Given the description of an element on the screen output the (x, y) to click on. 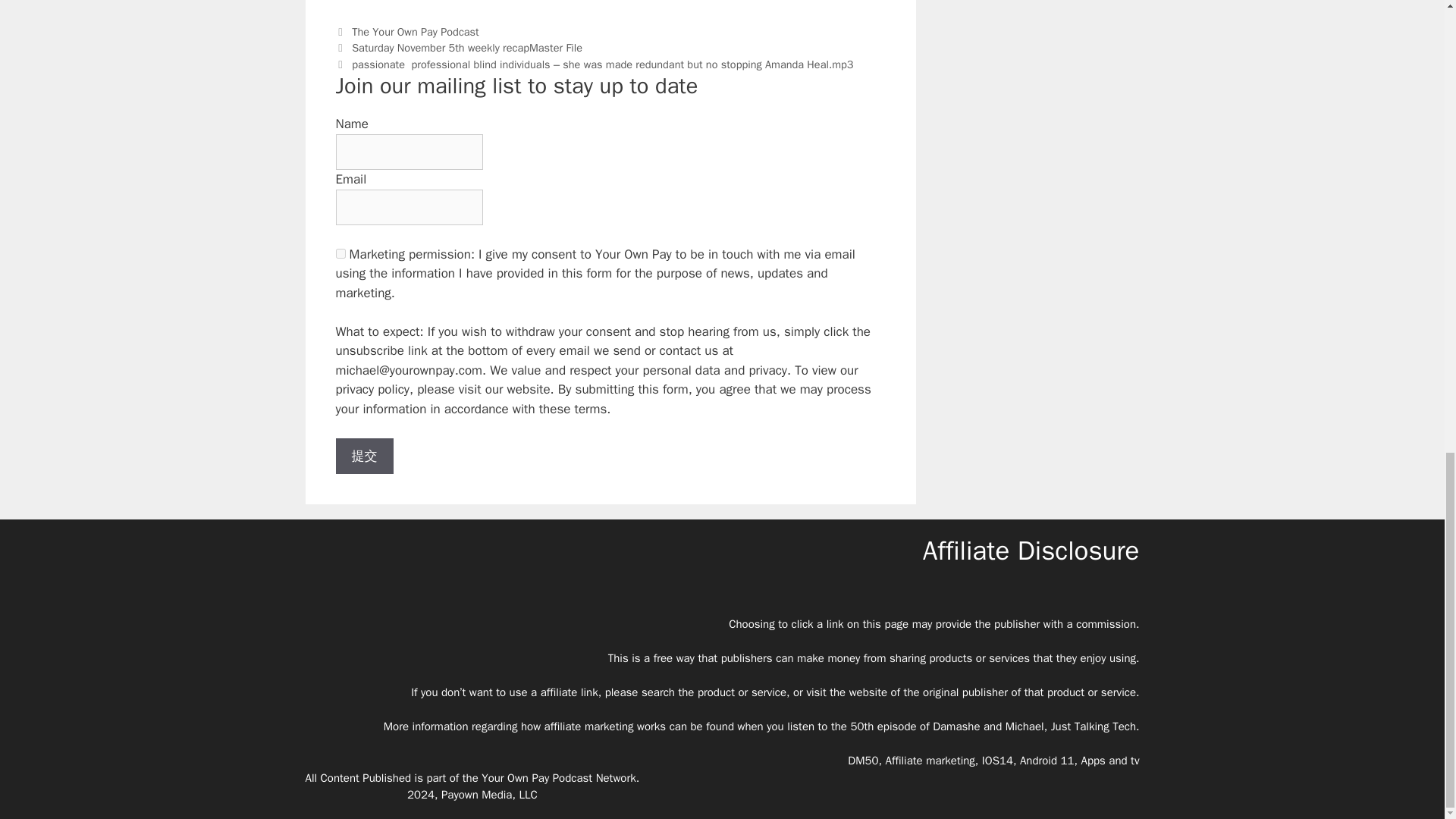
on (339, 253)
DM50, Affiliate marketing, IOS14, Android 11, Apps and tv (992, 760)
Saturday November 5th weekly recapMaster File (467, 47)
The Your Own Pay Podcast (415, 31)
